Given the description of an element on the screen output the (x, y) to click on. 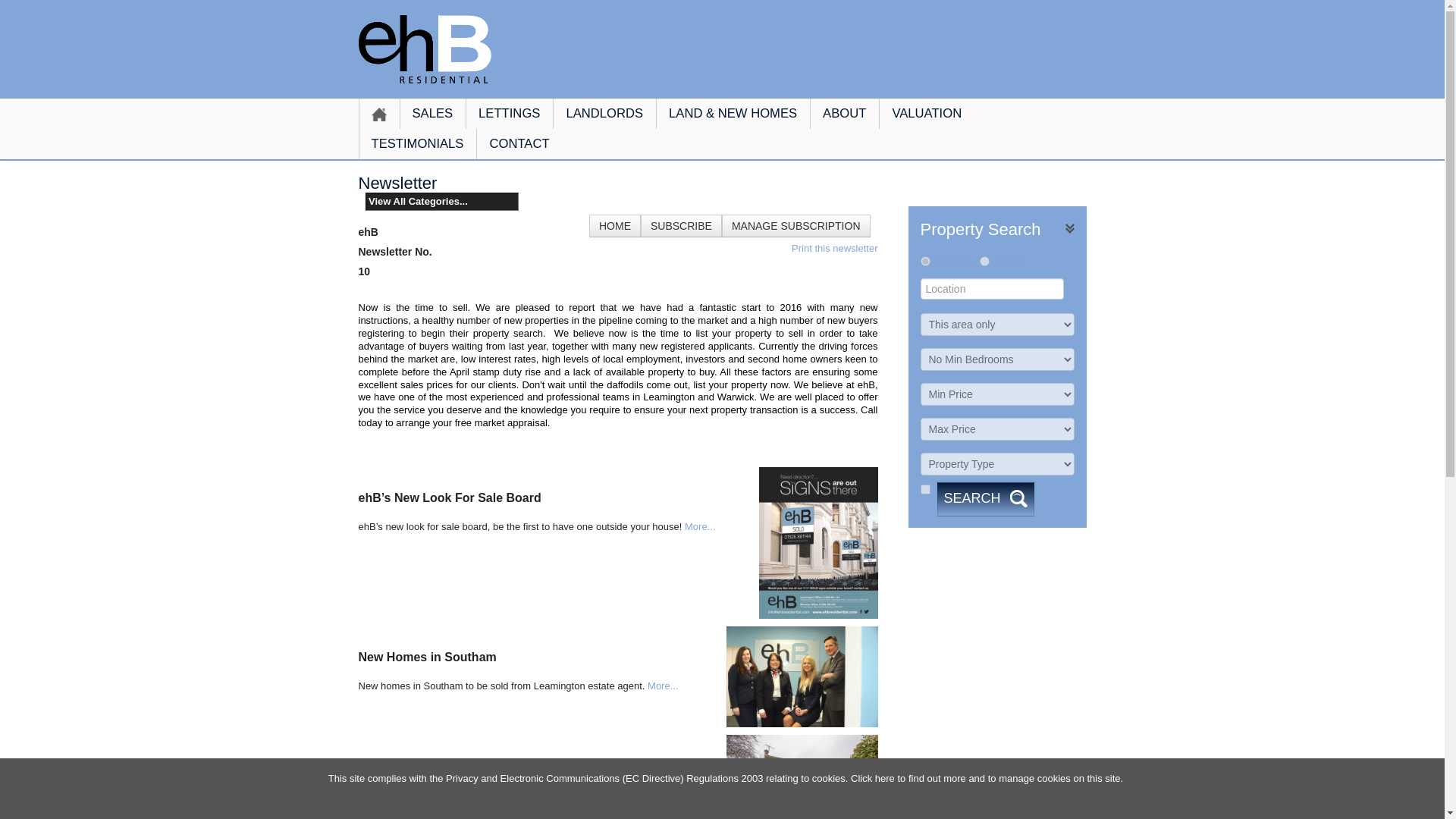
LETTINGS (509, 113)
LANDLORDS (604, 113)
More... (699, 526)
ABOUT (844, 113)
Print this newsletter (834, 247)
all (925, 489)
VALUATION (926, 113)
Manage Subscription (796, 225)
Subscribe (681, 225)
Home (614, 225)
lettings (984, 261)
CONTACT (519, 143)
More... (662, 685)
SALES (431, 113)
TESTIMONIALS (417, 143)
